Given the description of an element on the screen output the (x, y) to click on. 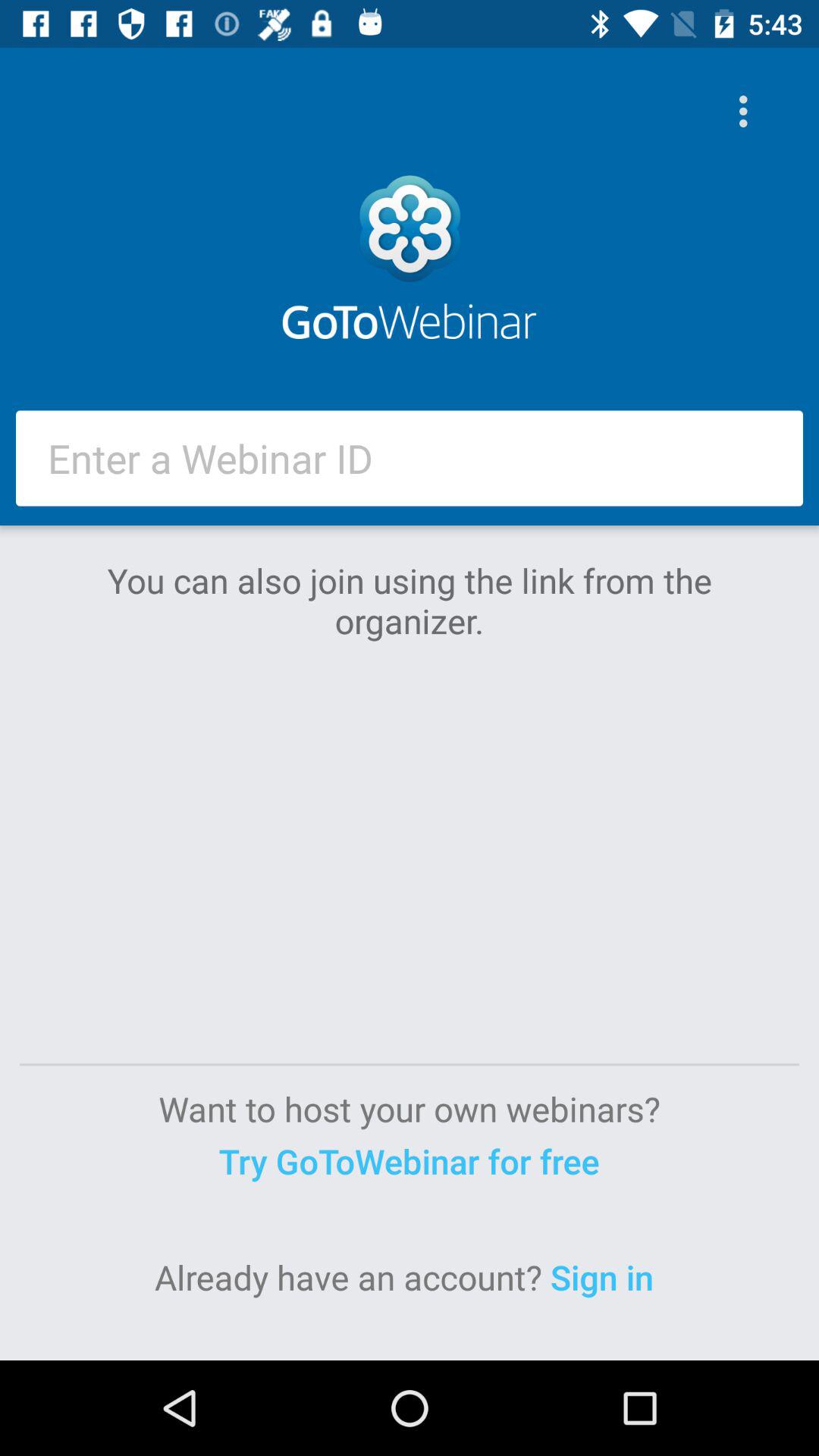
turn off the item below the want to host item (408, 1161)
